Given the description of an element on the screen output the (x, y) to click on. 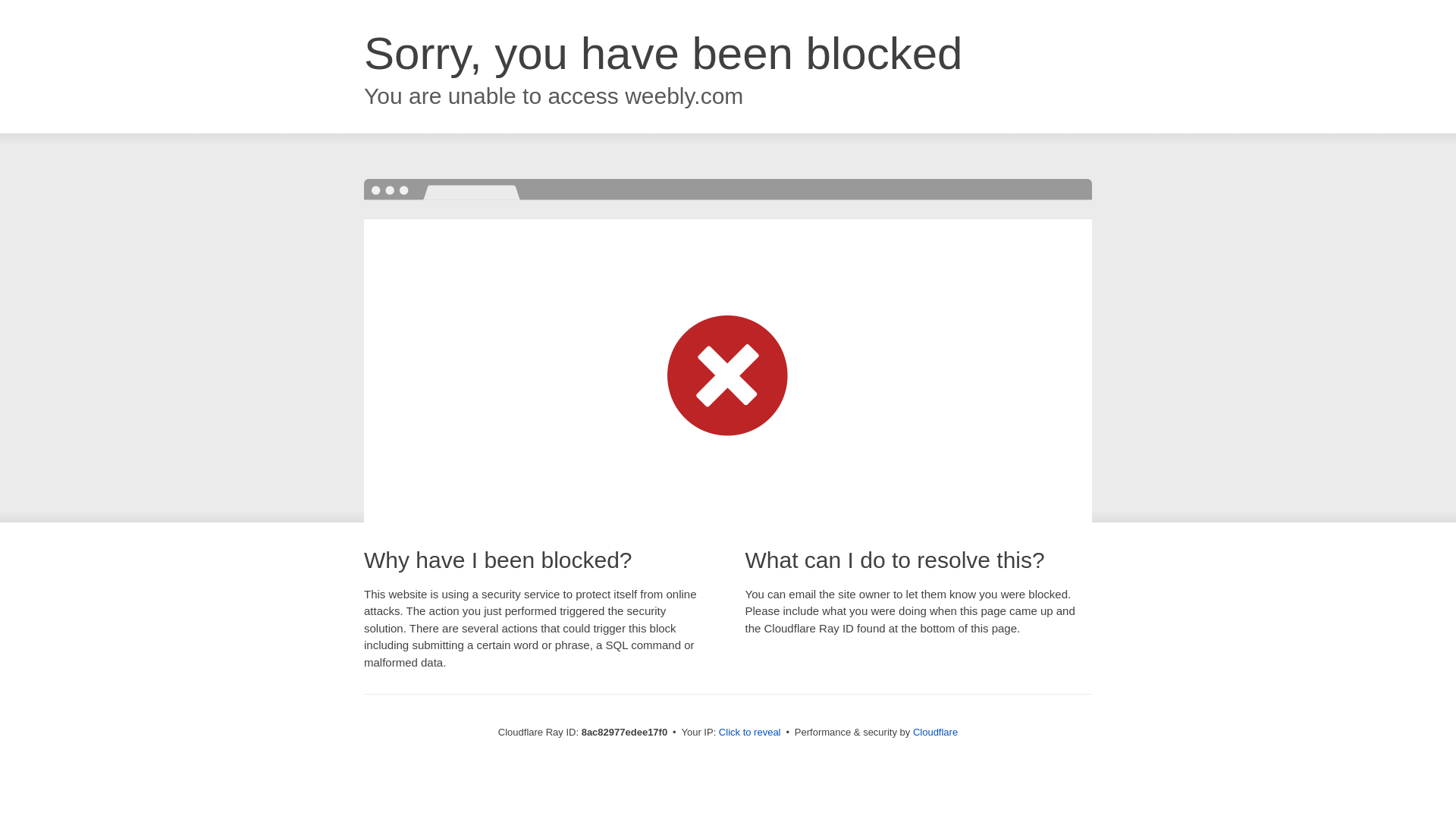
Cloudflare (935, 731)
Click to reveal (749, 732)
